Given the description of an element on the screen output the (x, y) to click on. 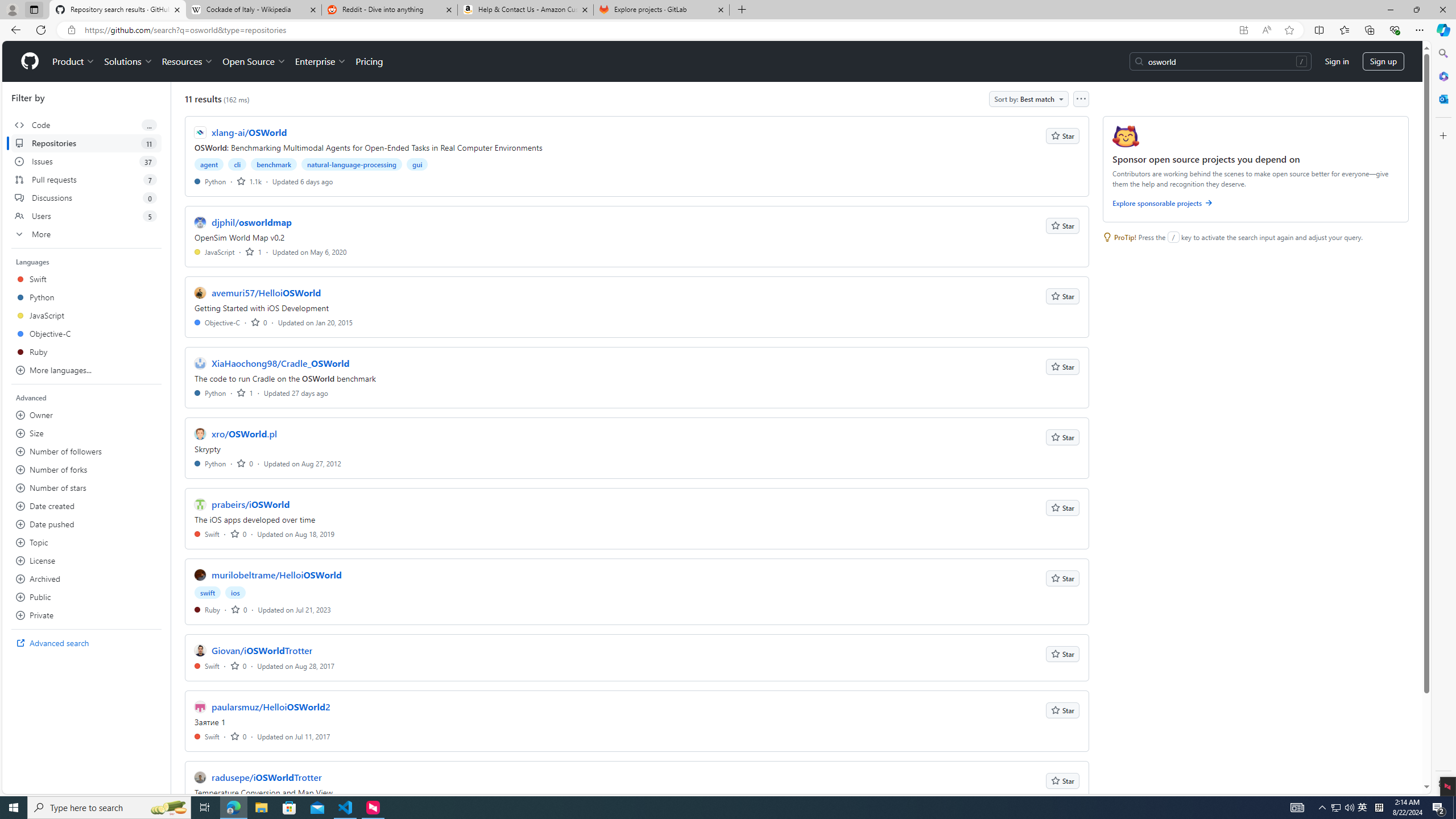
Favorites (1344, 29)
Enterprise (319, 60)
Collections (1369, 29)
Updated 27 days ago (295, 392)
App bar (728, 29)
More (86, 234)
Updated on Aug 27, 2012 (301, 462)
Settings (1442, 783)
0 stars (238, 736)
xlang-ai/OSWorld (248, 132)
Explore sponsorable projects (1255, 205)
Microsoft 365 (1442, 76)
